Given the description of an element on the screen output the (x, y) to click on. 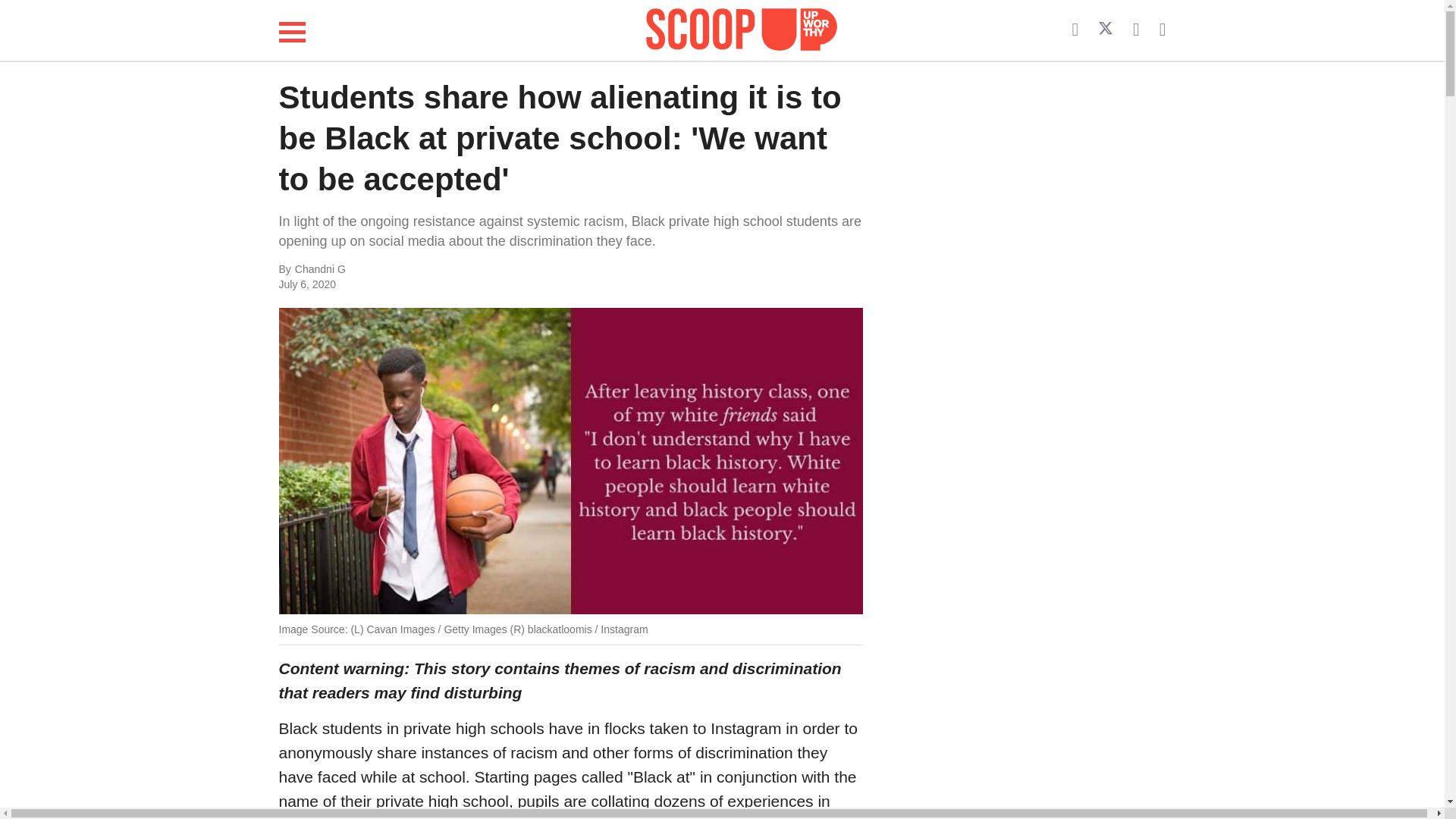
SCOOP UPWORTHY (741, 29)
Chandni G (445, 269)
SCOOP UPWORTHY (741, 27)
